Given the description of an element on the screen output the (x, y) to click on. 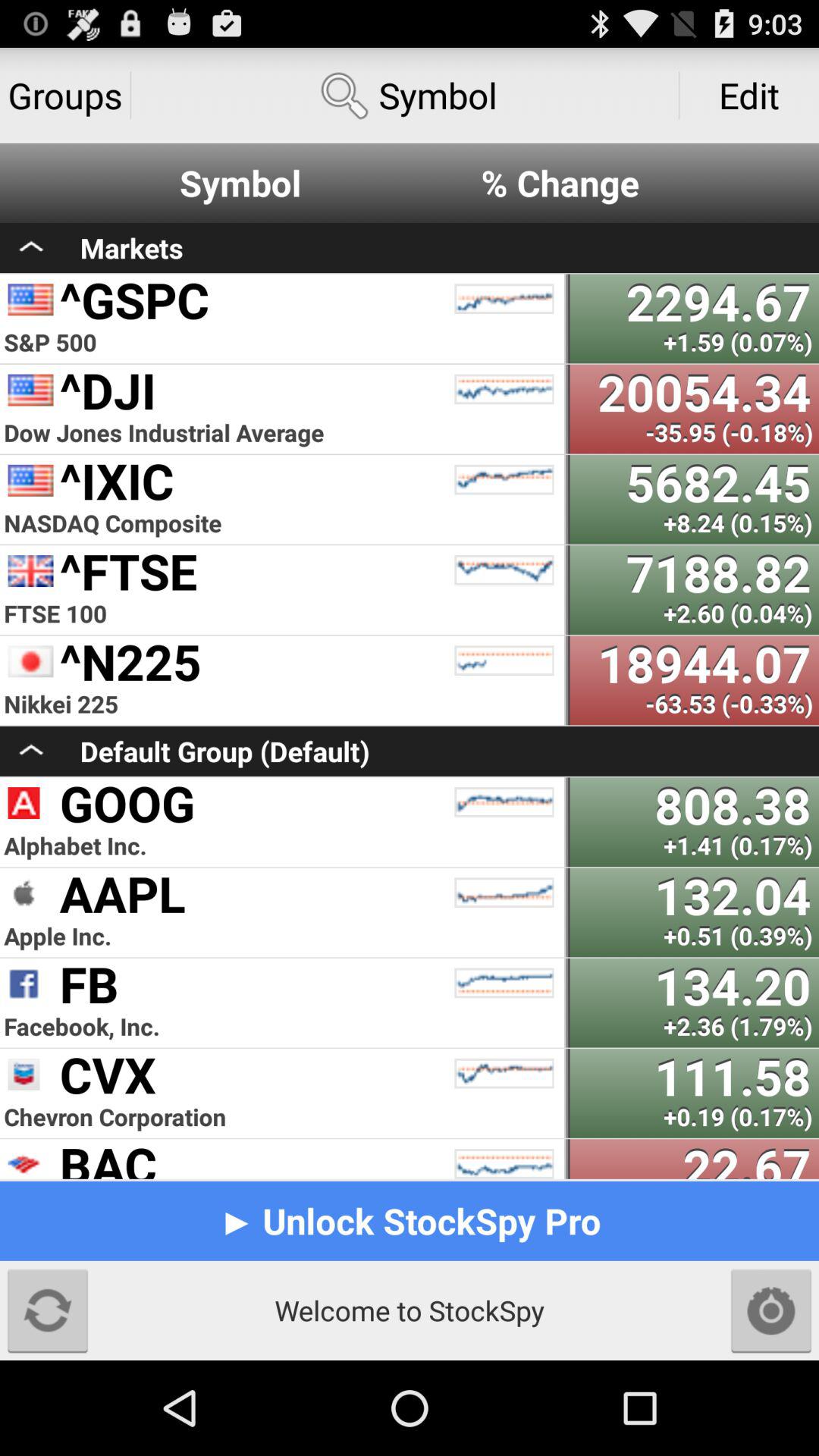
refresh (47, 1310)
